Given the description of an element on the screen output the (x, y) to click on. 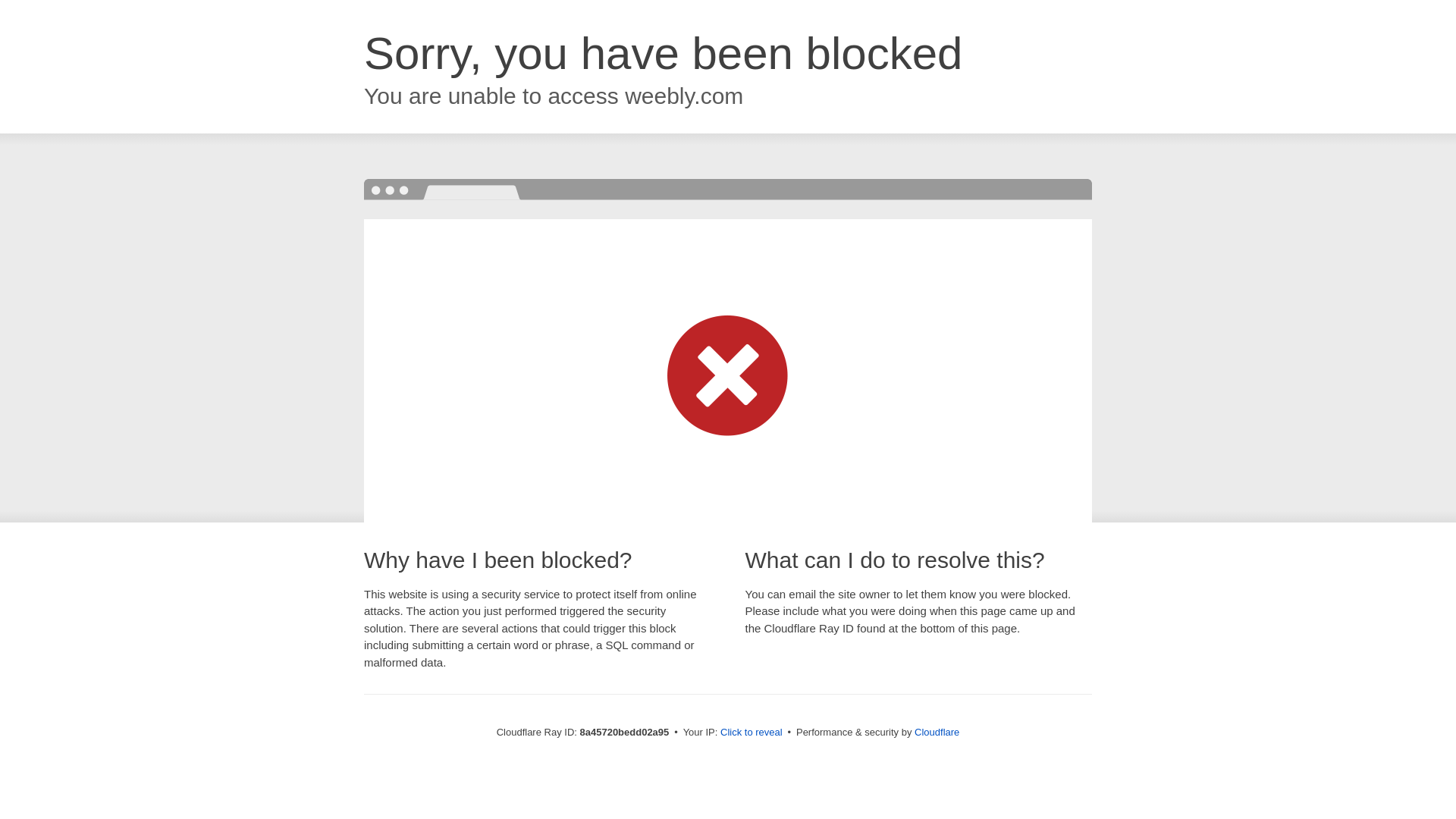
Cloudflare (936, 731)
Click to reveal (751, 732)
